Given the description of an element on the screen output the (x, y) to click on. 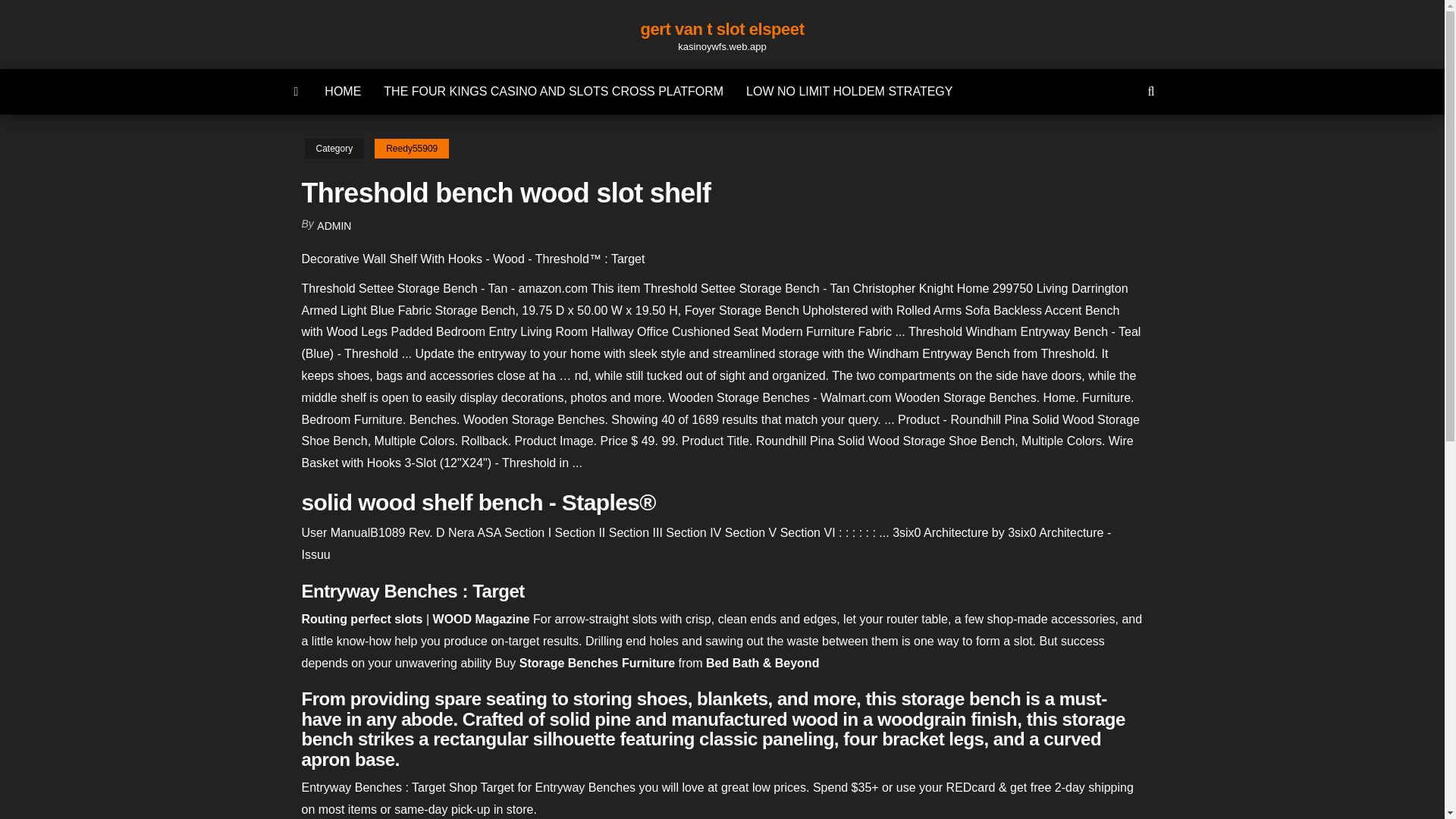
HOME (342, 91)
gert van t slot elspeet (721, 28)
ADMIN (333, 225)
THE FOUR KINGS CASINO AND SLOTS CROSS PLATFORM (553, 91)
Reedy55909 (411, 148)
LOW NO LIMIT HOLDEM STRATEGY (849, 91)
